Given the description of an element on the screen output the (x, y) to click on. 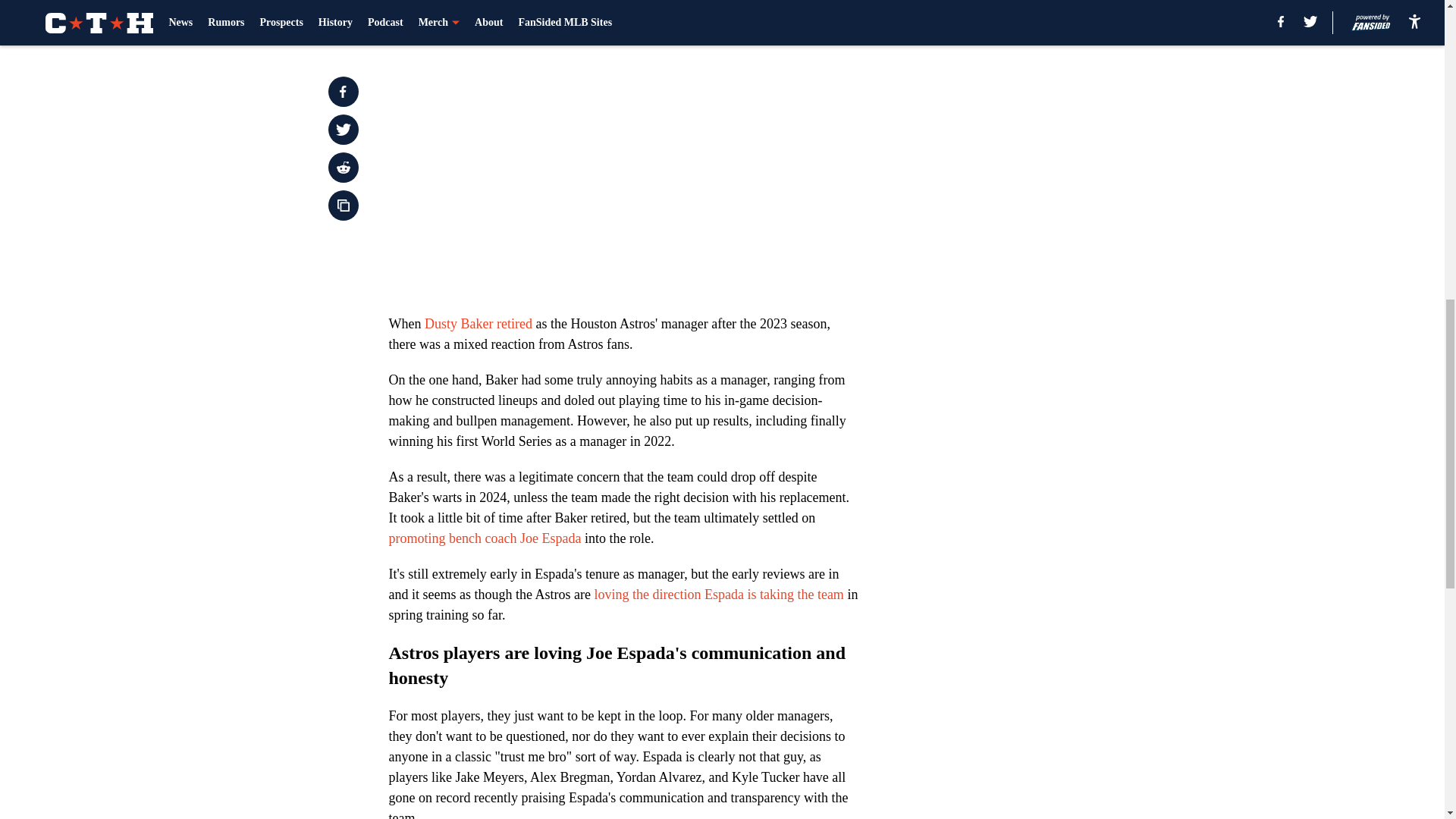
loving the direction Espada is taking the team (718, 594)
promoting bench coach Joe Espada (484, 538)
Dusty Baker retired (478, 323)
